Given the description of an element on the screen output the (x, y) to click on. 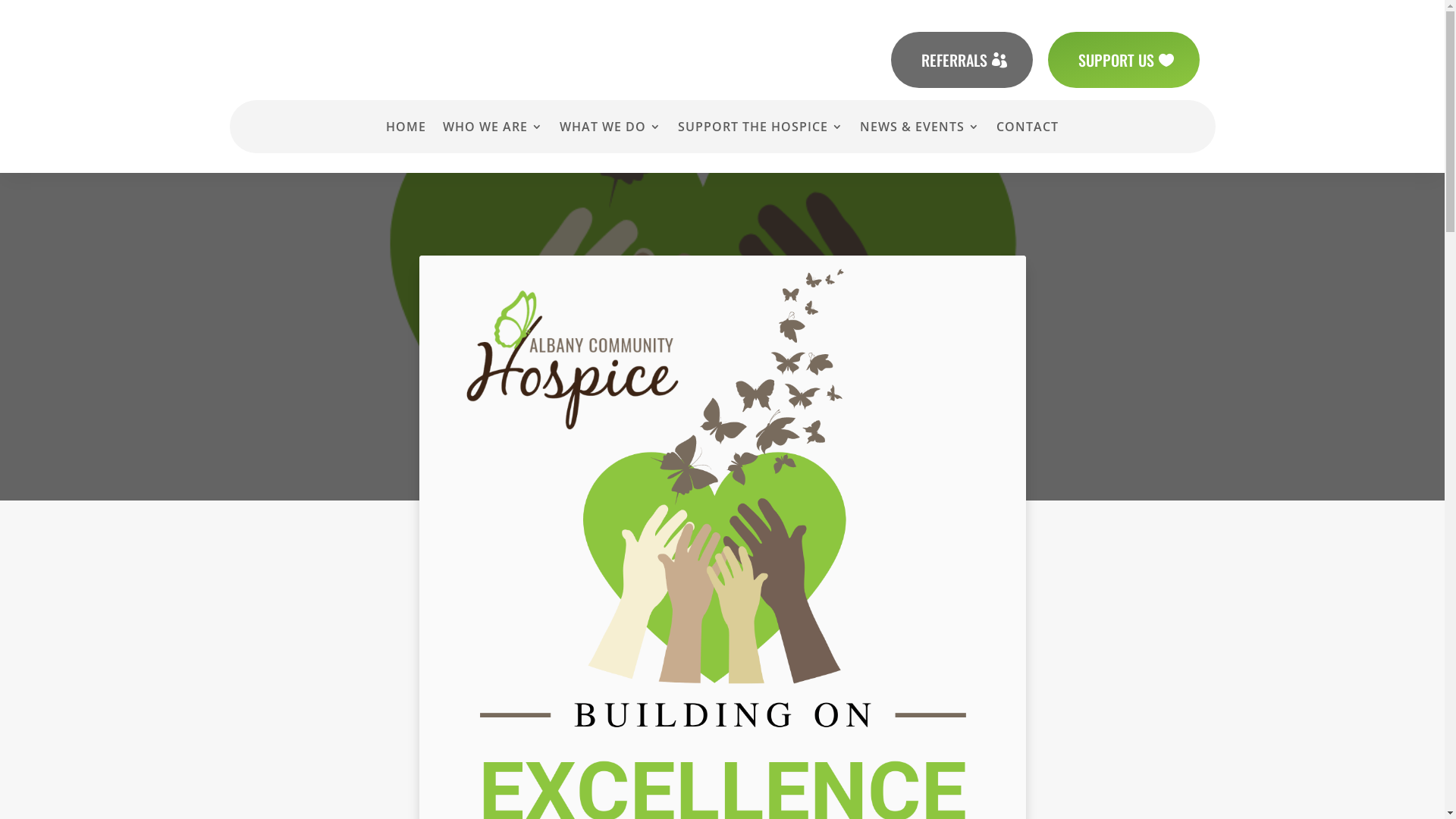
NEWS & EVENTS Element type: text (919, 129)
HOME Element type: text (405, 129)
SUPPORT THE HOSPICE Element type: text (760, 129)
CONTACT Element type: text (1027, 129)
WHAT WE DO Element type: text (610, 129)
WHO WE ARE Element type: text (492, 129)
SUPPORT US Element type: text (1123, 59)
REFERRALS Element type: text (961, 59)
